Given the description of an element on the screen output the (x, y) to click on. 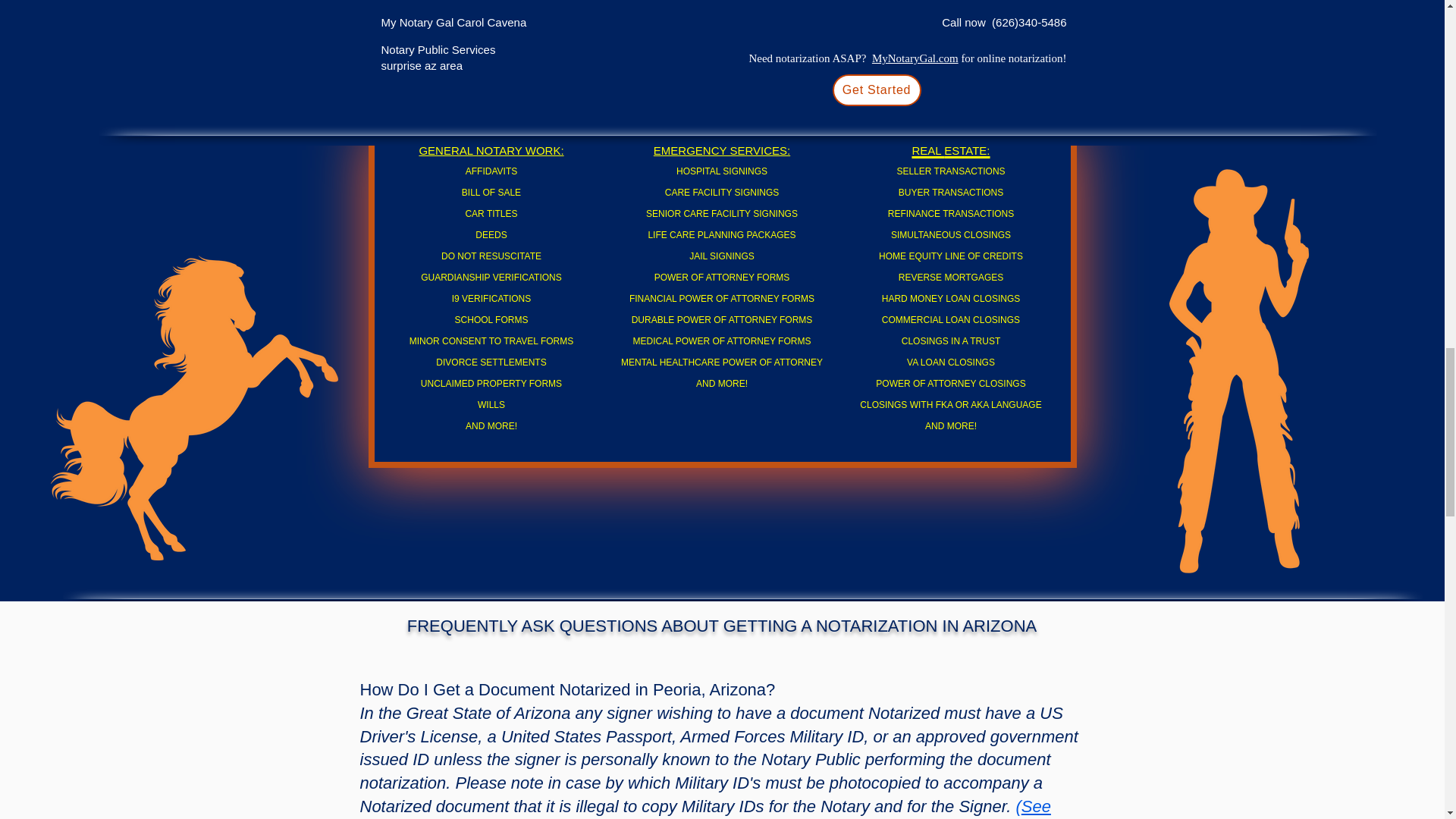
See Defense.gov (704, 807)
